Given the description of an element on the screen output the (x, y) to click on. 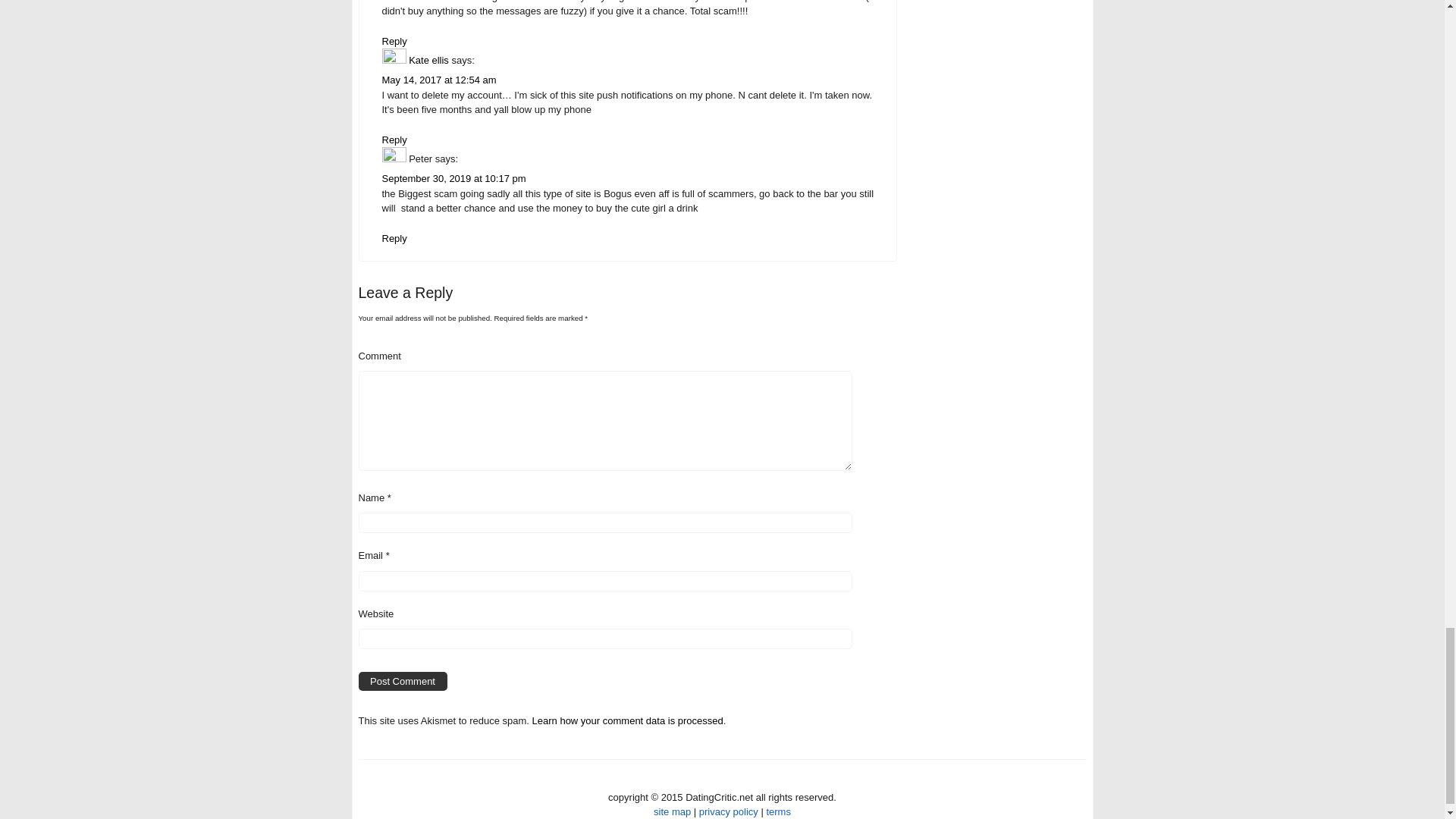
Kate ellis (428, 60)
Reply (394, 41)
Post Comment (402, 681)
Reply (394, 238)
May 14, 2017 at 12:54 am (438, 79)
Reply (394, 139)
September 30, 2019 at 10:17 pm (453, 178)
